Given the description of an element on the screen output the (x, y) to click on. 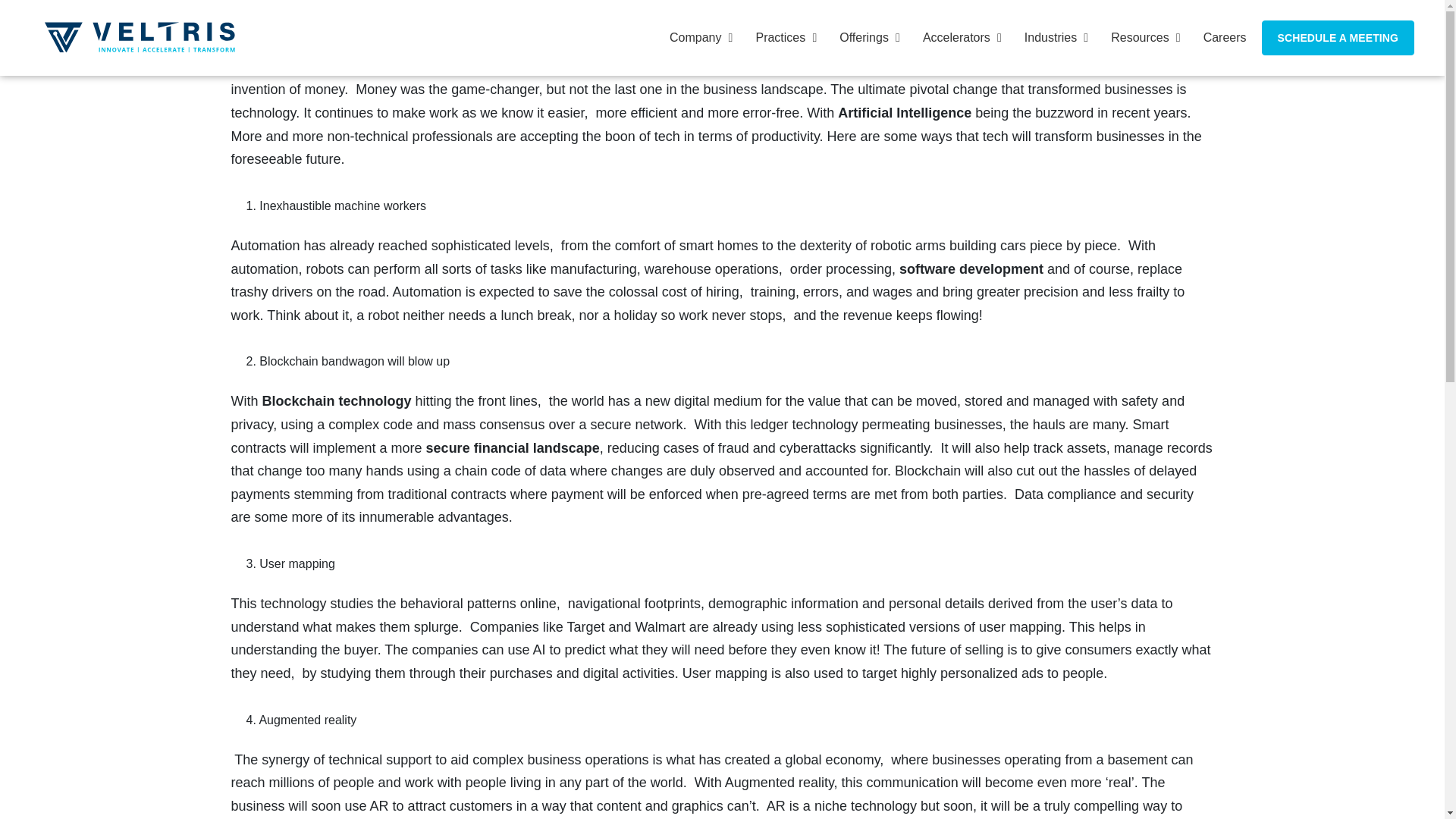
Accelerators (958, 37)
Industries (1052, 37)
Resources (1142, 37)
Practices (781, 37)
Offerings (865, 37)
Company (696, 37)
